Given the description of an element on the screen output the (x, y) to click on. 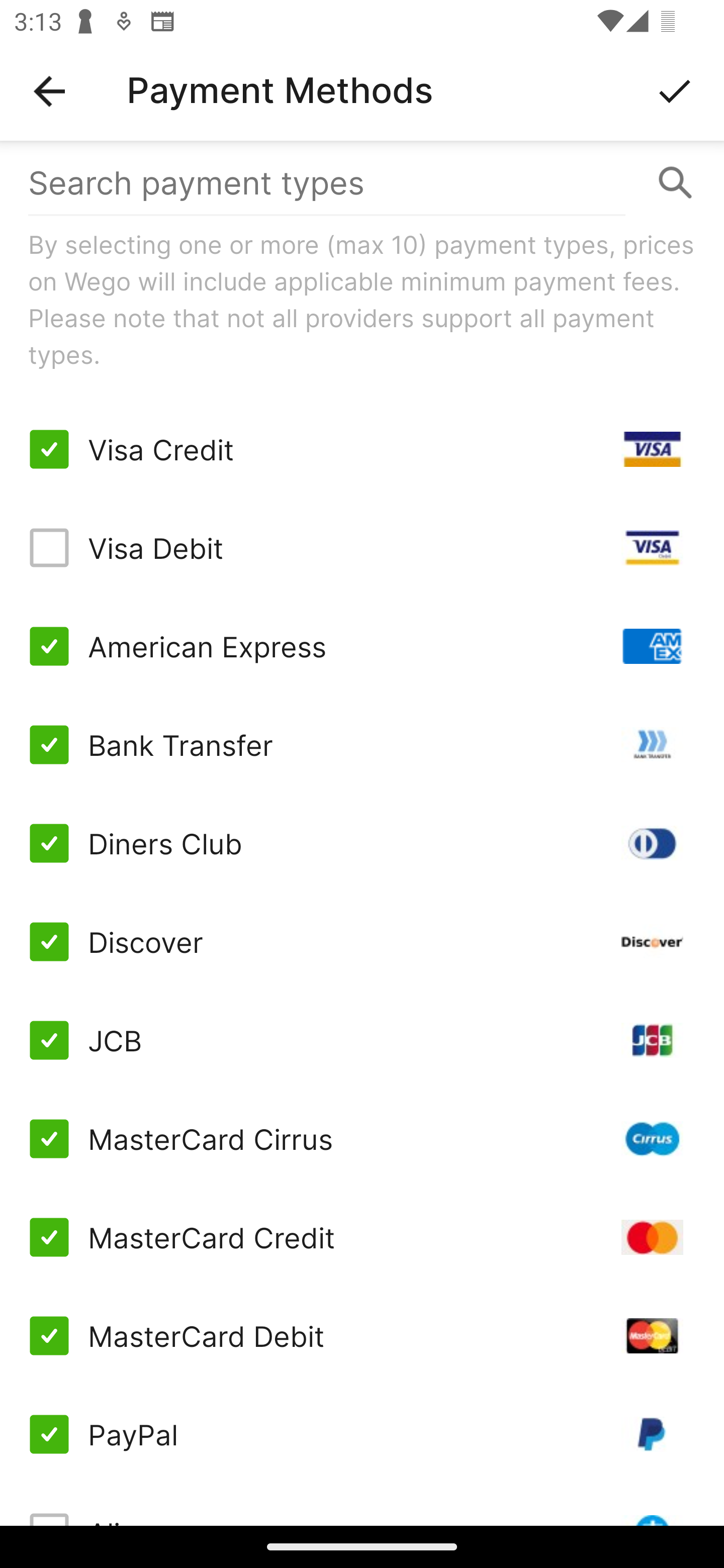
Search payment types  (361, 182)
Visa Credit (362, 448)
Visa Debit (362, 547)
American Express (362, 646)
Bank Transfer (362, 744)
Diners Club (362, 842)
Discover (362, 941)
JCB (362, 1039)
MasterCard Cirrus (362, 1138)
MasterCard Credit (362, 1237)
MasterCard Debit (362, 1335)
PayPal (362, 1433)
